Given the description of an element on the screen output the (x, y) to click on. 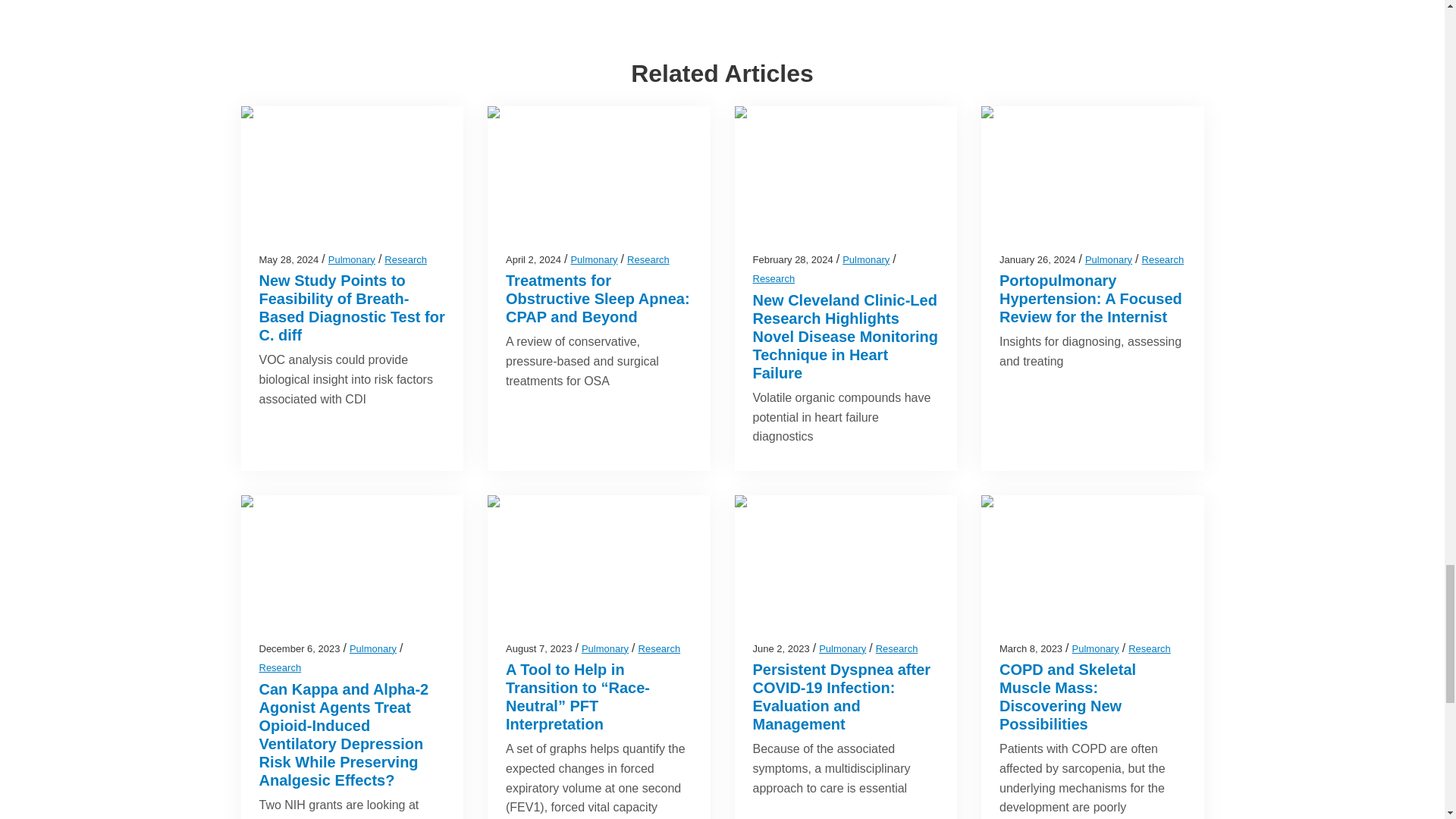
Research (405, 259)
Research (648, 259)
Pulmonary (593, 259)
Treatments for Obstructive Sleep Apnea: CPAP and Beyond (597, 298)
Pulmonary (352, 259)
